Given the description of an element on the screen output the (x, y) to click on. 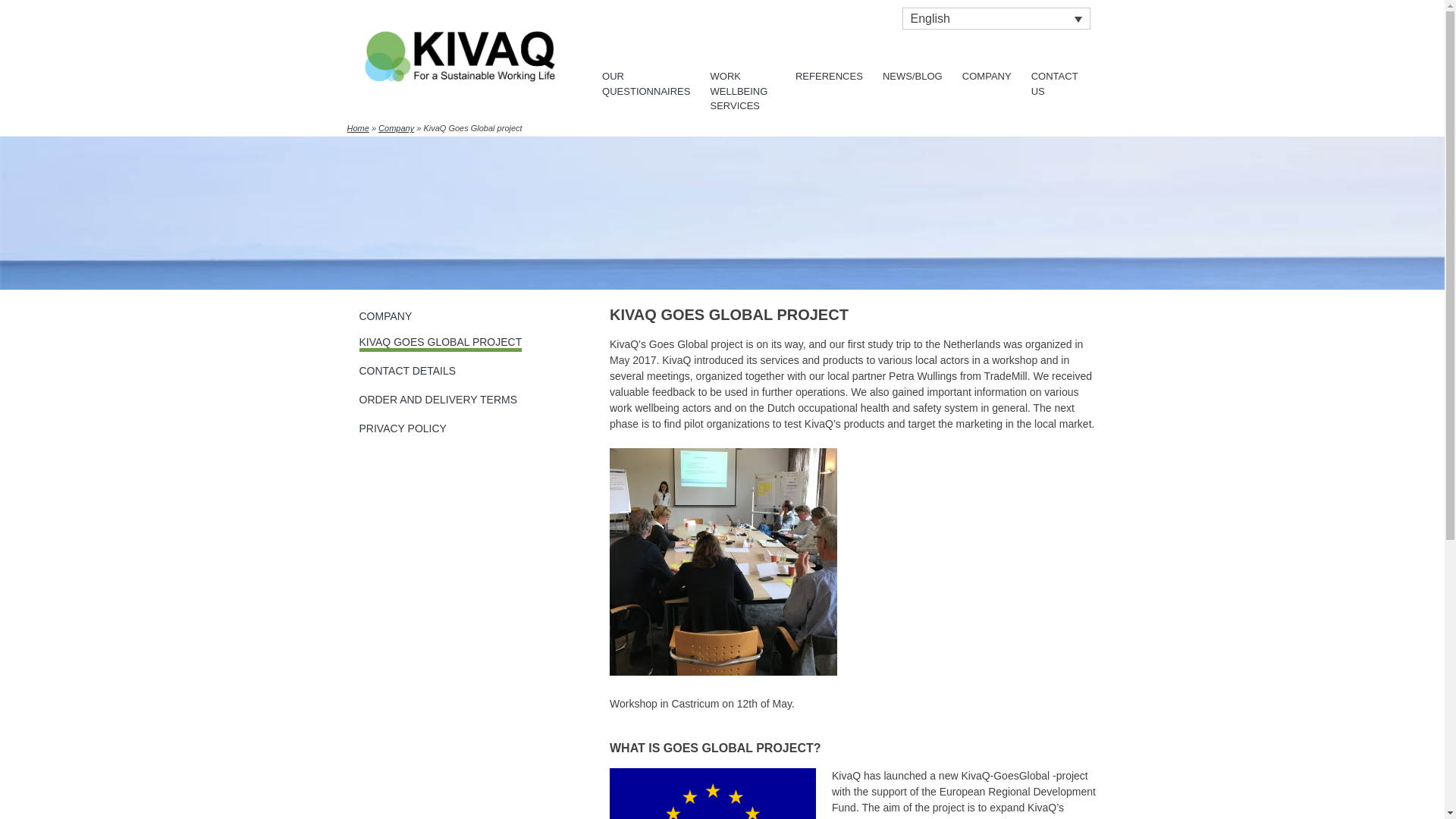
REFERENCES (828, 77)
COMPANY (986, 77)
English (996, 18)
WORK WELLBEING SERVICES (743, 92)
OUR QUESTIONNAIRES (646, 85)
